Given the description of an element on the screen output the (x, y) to click on. 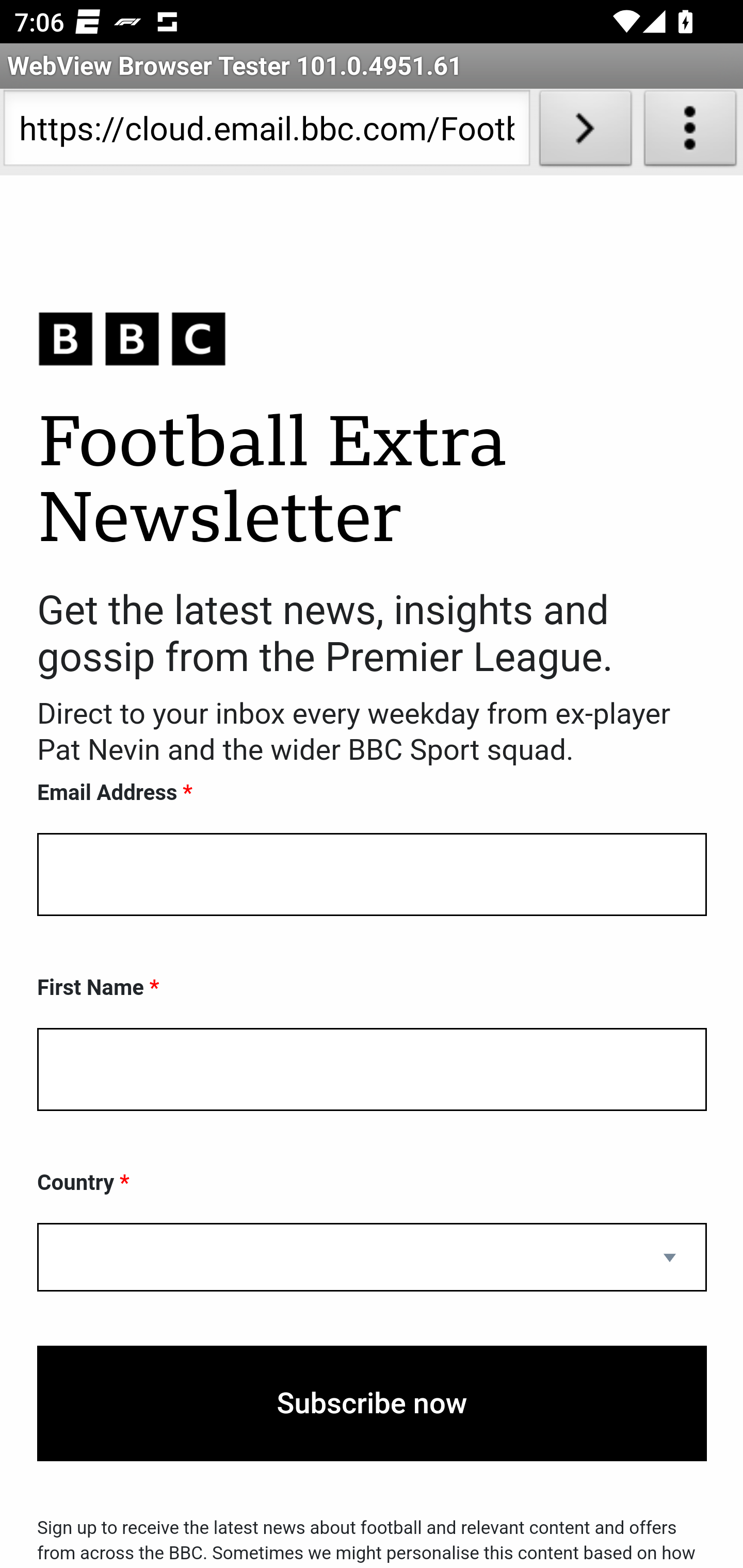
Load URL (585, 132)
About WebView (690, 132)
BBC (372, 338)
Subscribe now (372, 1403)
